Given the description of an element on the screen output the (x, y) to click on. 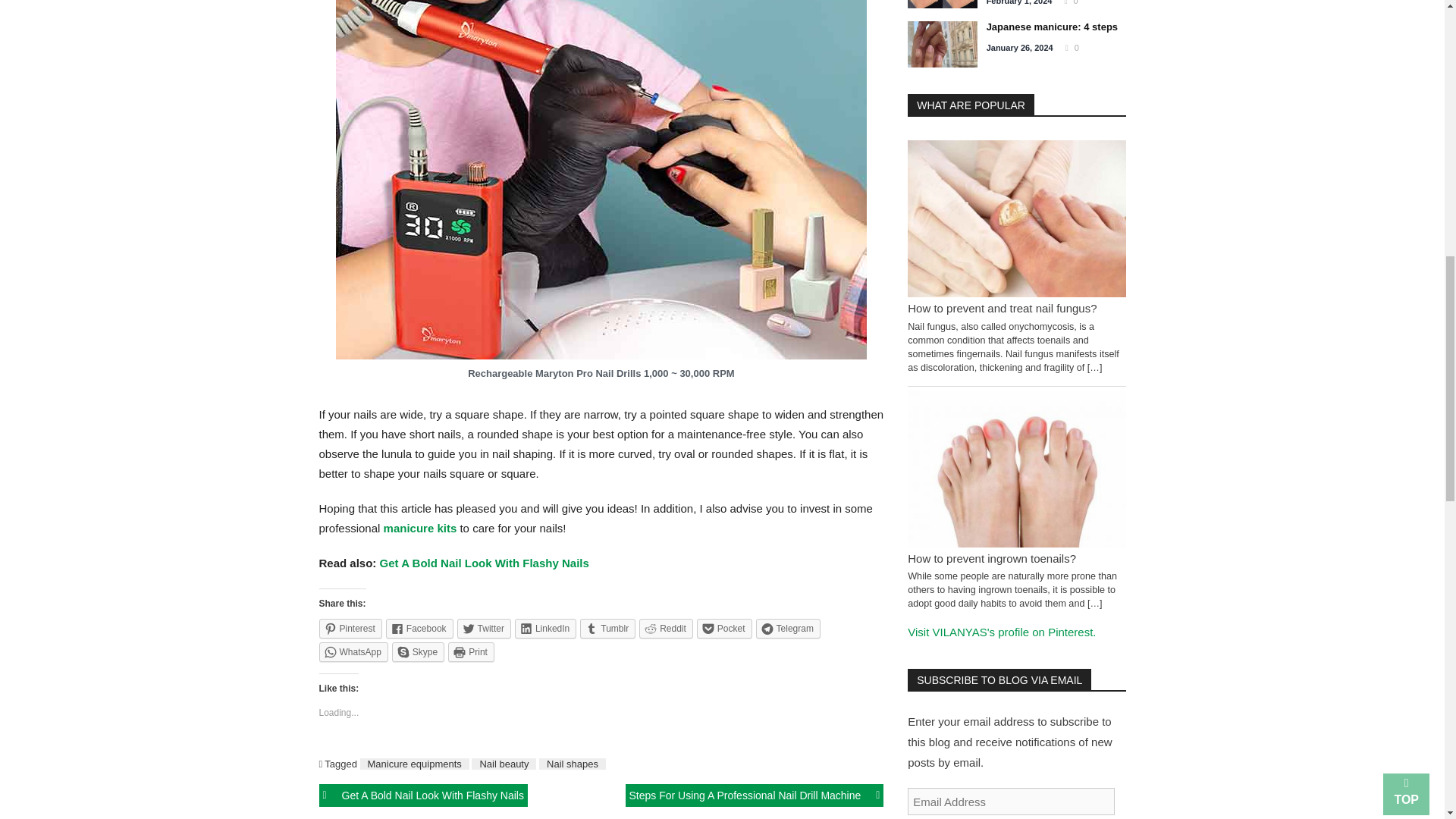
manicure kits (420, 527)
Click to share on Facebook (418, 628)
Click to share on Reddit (666, 628)
Facebook (418, 628)
Get A Bold Nail Look With Flashy Nails (484, 562)
Click to share on Pinterest (349, 628)
Click to share on Tumblr (606, 628)
Click to share on Twitter (484, 628)
Tumblr (606, 628)
Skype (417, 651)
